Given the description of an element on the screen output the (x, y) to click on. 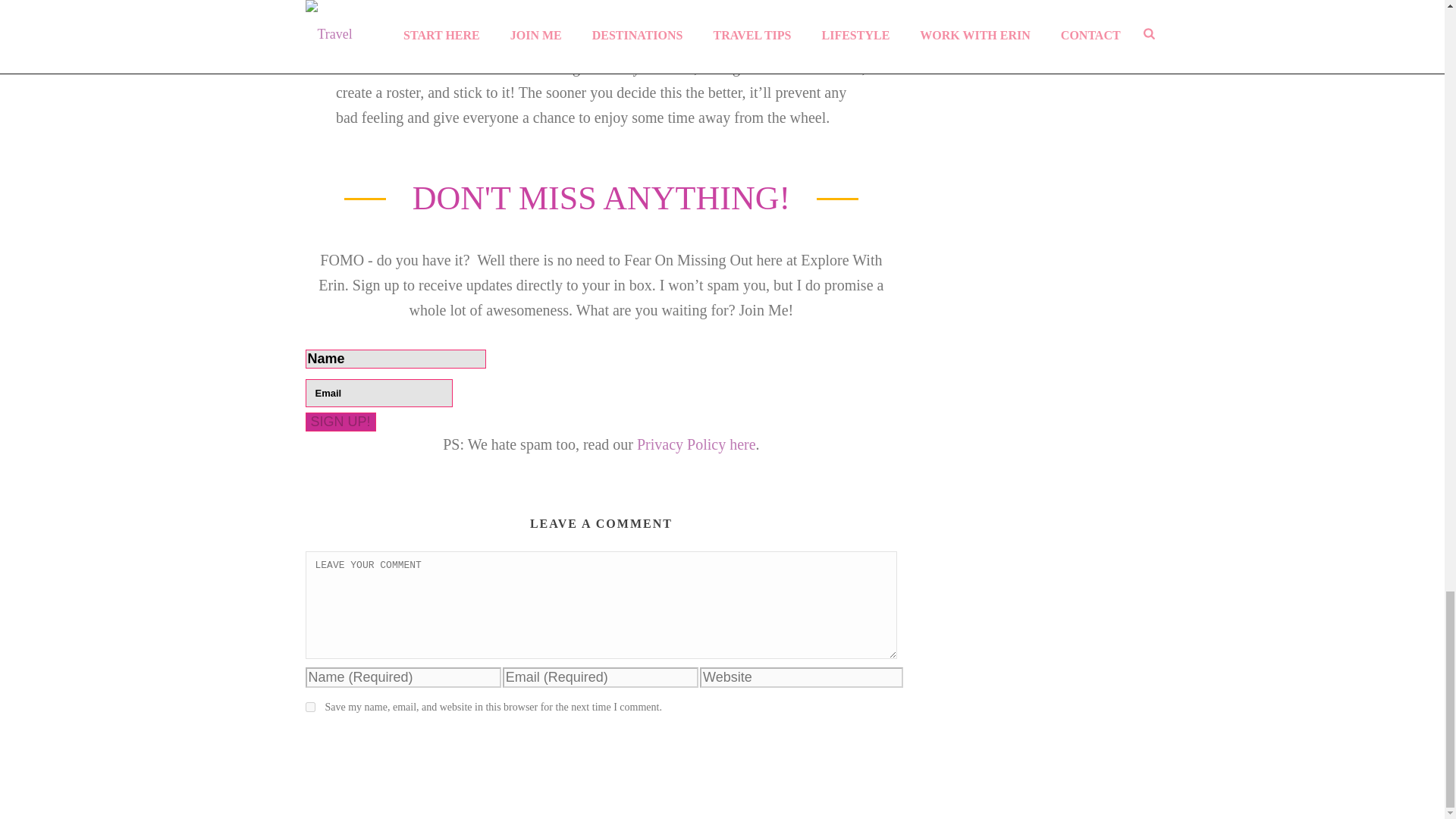
yes (309, 706)
